Given the description of an element on the screen output the (x, y) to click on. 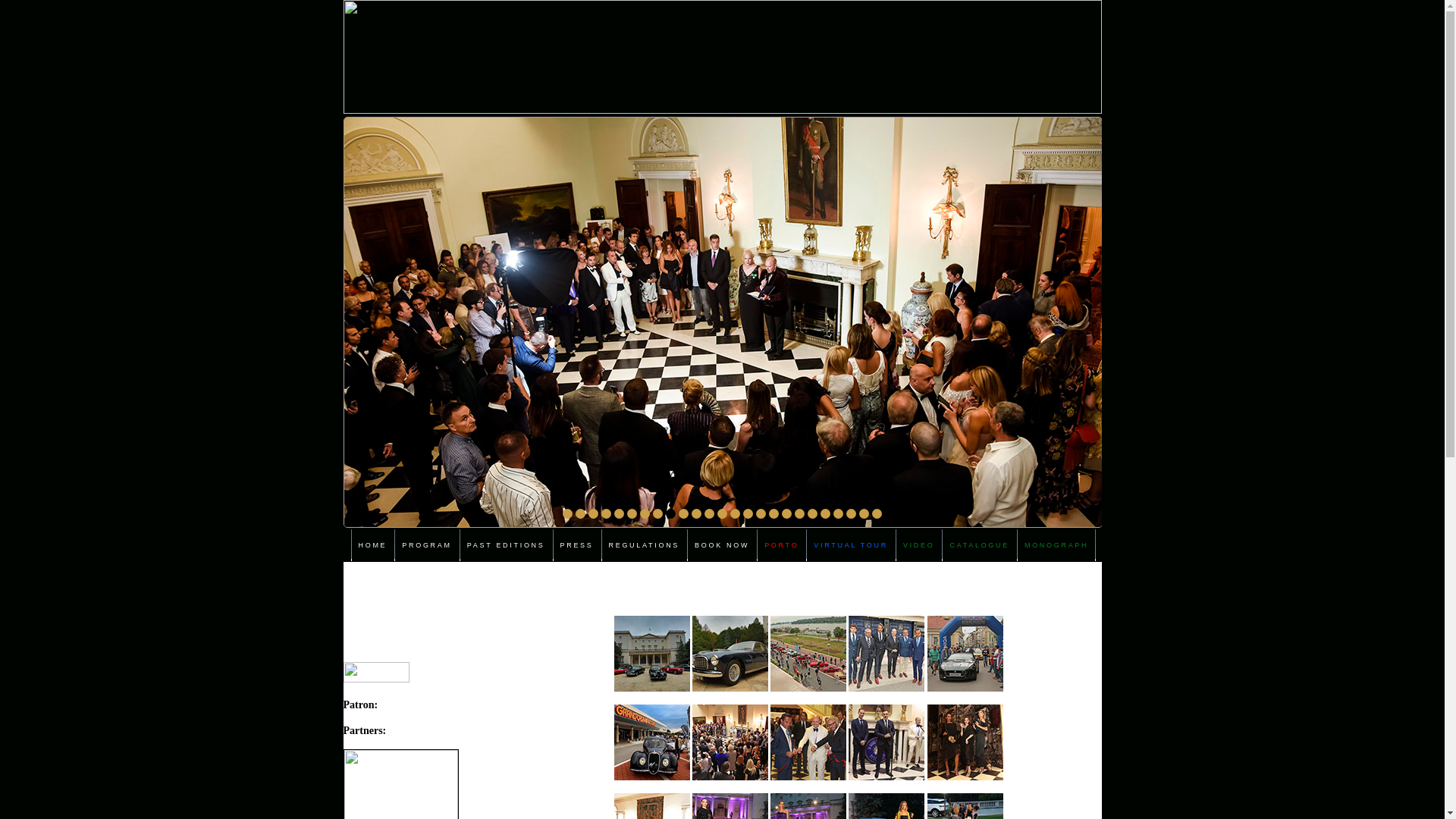
BOOK NOW Element type: text (721, 545)
PAST EDITIONS Element type: text (505, 545)
MONOGRAPH Element type: text (1055, 545)
PRESS Element type: text (576, 545)
REGULATIONS Element type: text (644, 545)
HOME Element type: text (372, 545)
CATALOGUE Element type: text (978, 545)
VIRTUAL TOUR Element type: text (850, 545)
VIDEO Element type: text (918, 545)
PROGRAM Element type: text (426, 545)
PORTO Element type: text (781, 545)
